Given the description of an element on the screen output the (x, y) to click on. 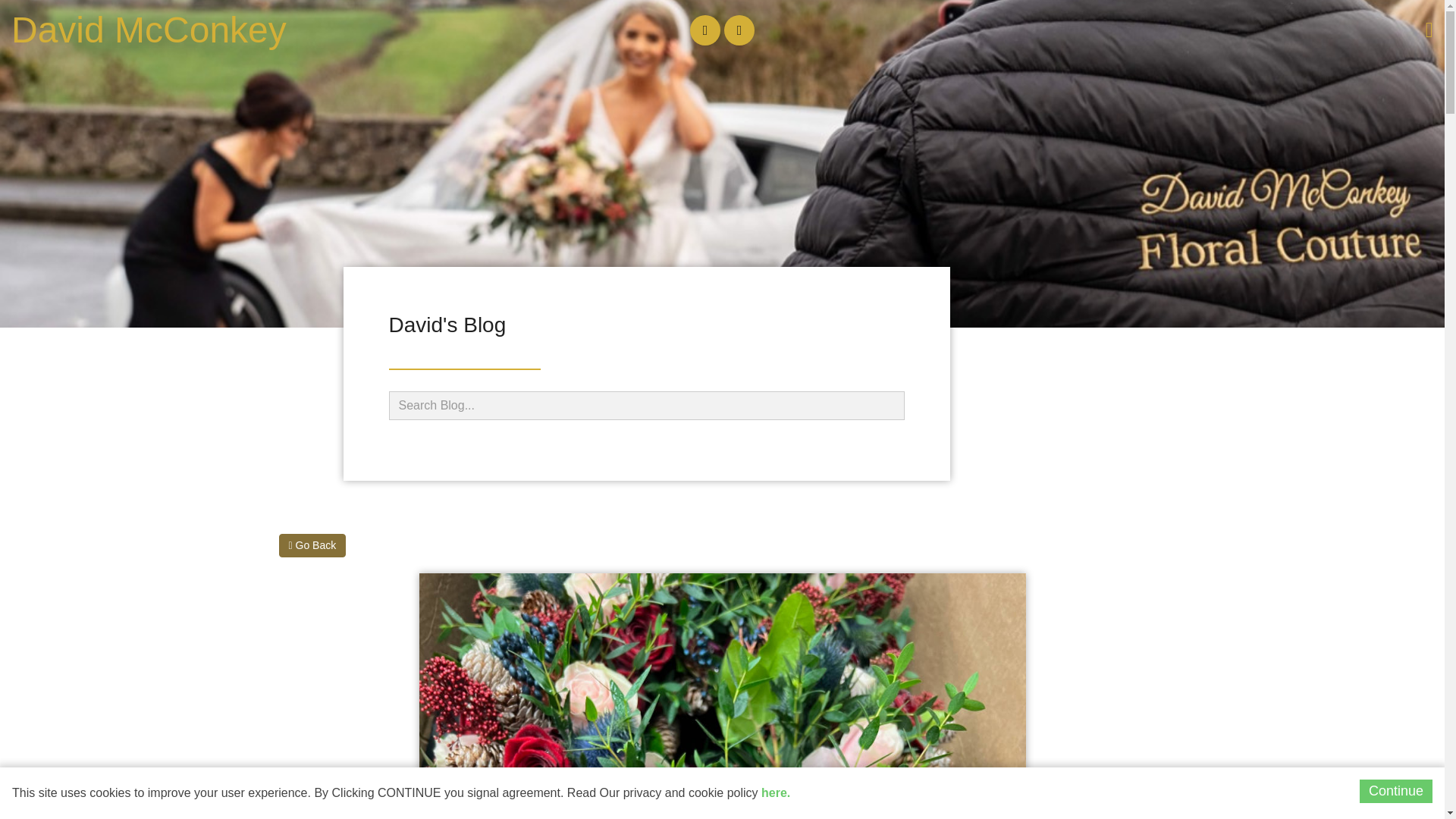
David McConkey (148, 30)
Go Back (312, 545)
